Given the description of an element on the screen output the (x, y) to click on. 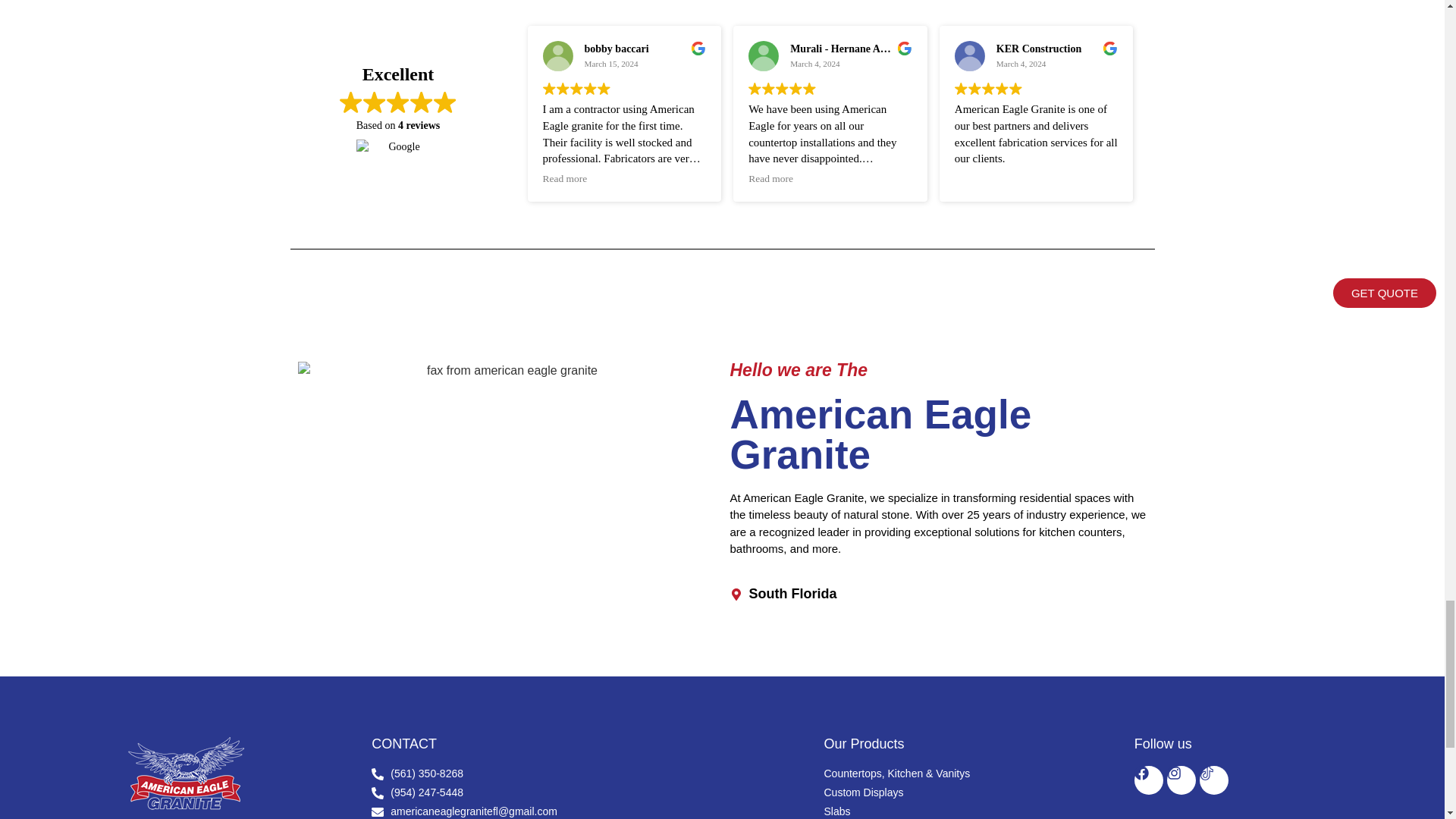
South Florida (938, 593)
